Given the description of an element on the screen output the (x, y) to click on. 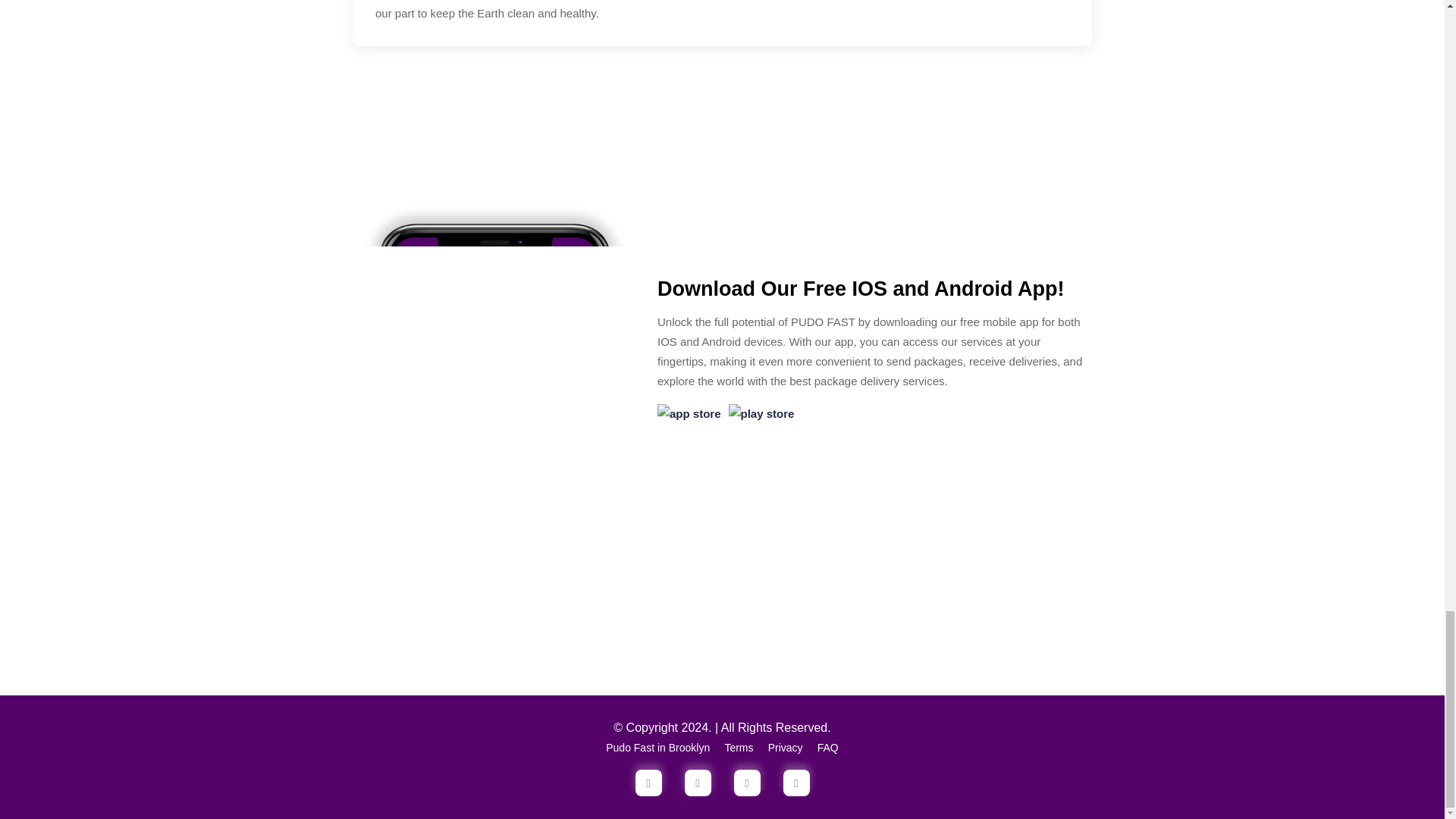
Pudo Fast in Brooklyn (657, 747)
Privacy (785, 747)
Terms (737, 747)
FAQ (827, 747)
